Given the description of an element on the screen output the (x, y) to click on. 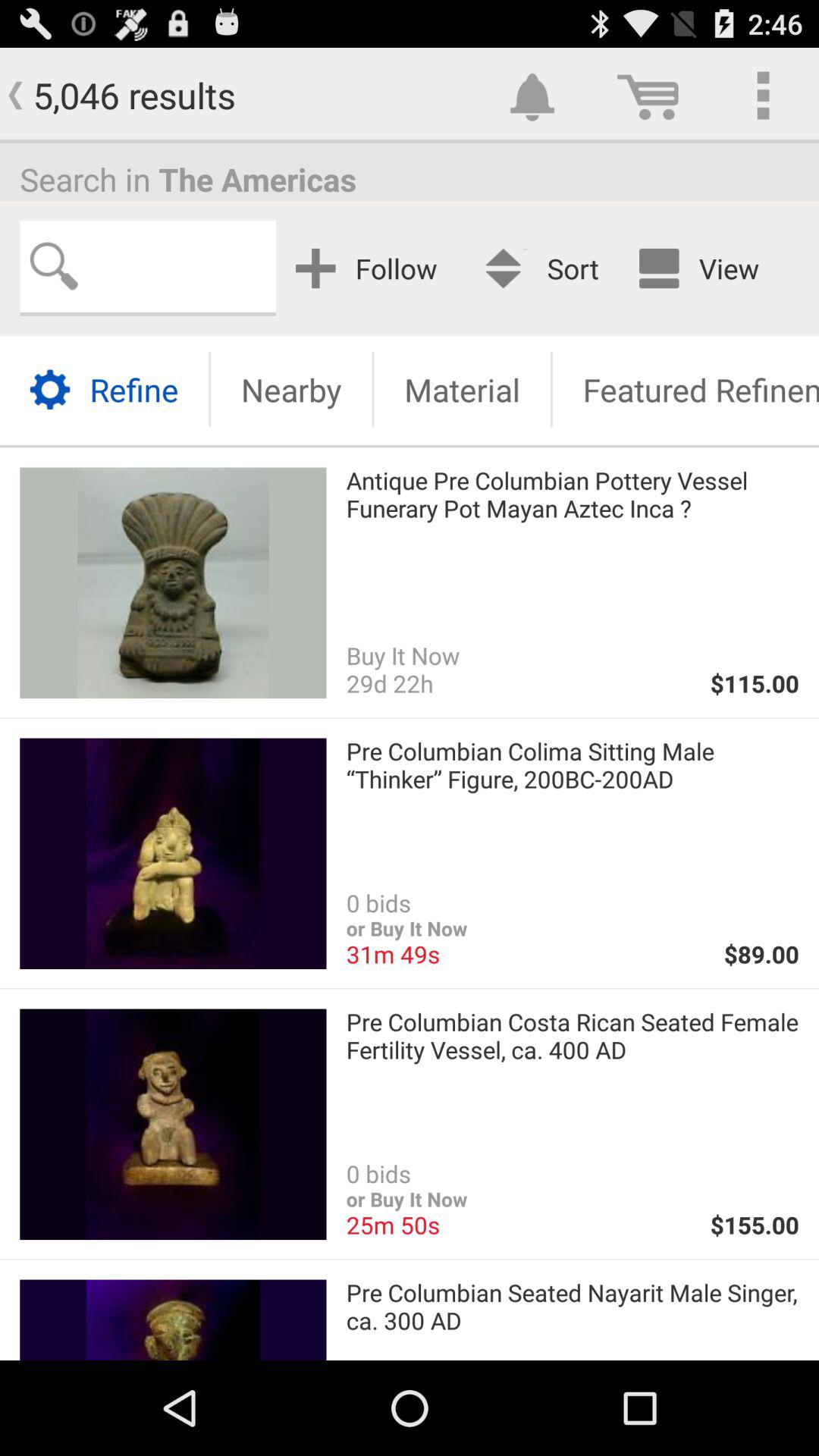
launch the featured refinements button (685, 389)
